Given the description of an element on the screen output the (x, y) to click on. 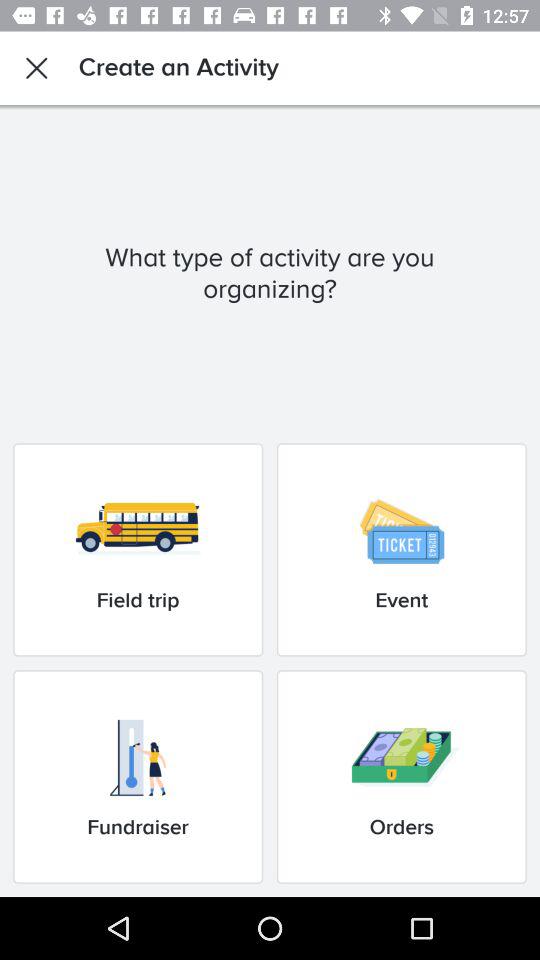
tap the item next to the orders item (138, 776)
